Given the description of an element on the screen output the (x, y) to click on. 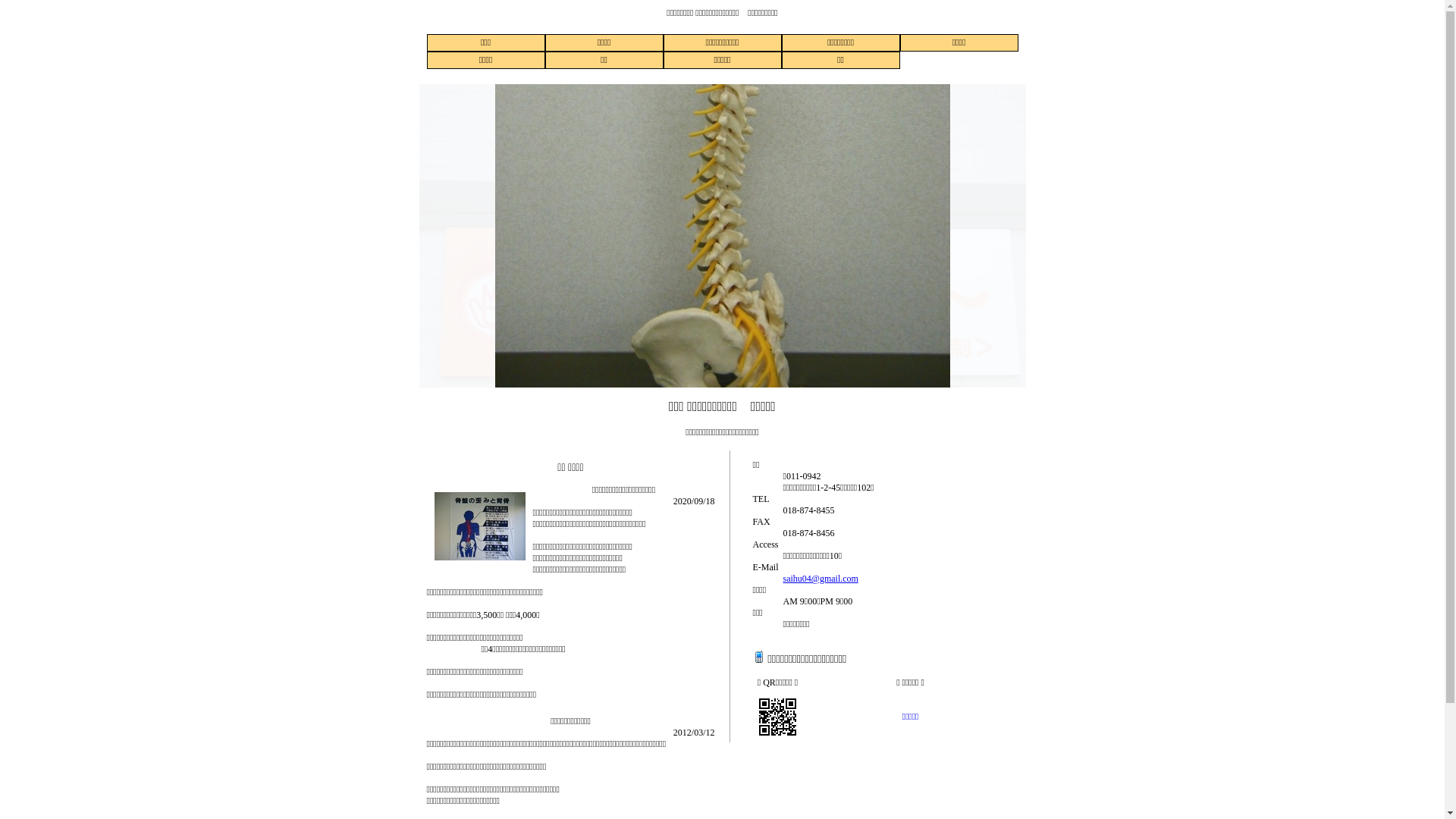
saihu04@gmail.com Element type: text (819, 578)
